Given the description of an element on the screen output the (x, y) to click on. 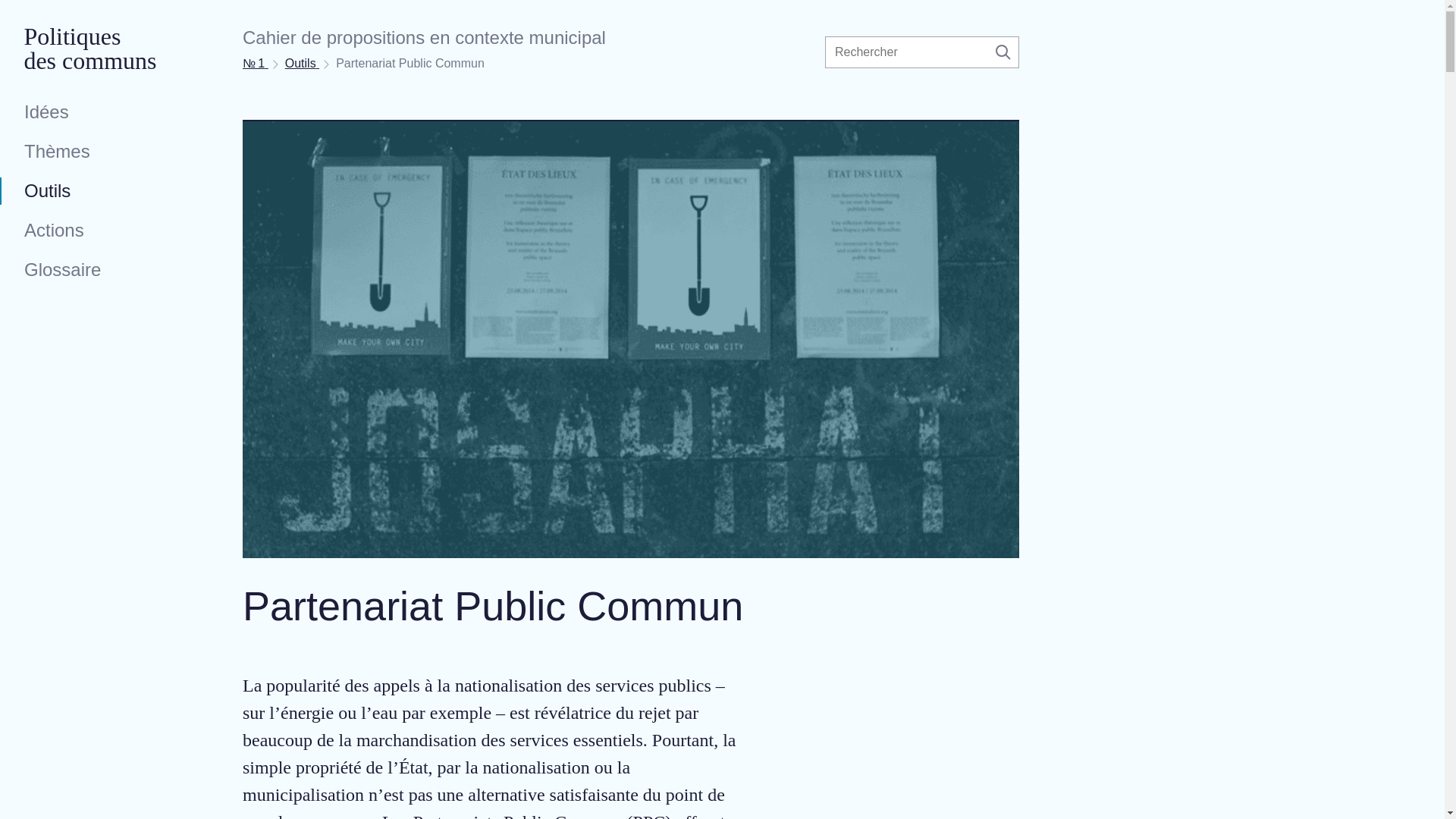
Glossaire Element type: text (84, 269)
Outils Element type: text (302, 62)
Actions Element type: text (84, 230)
Outils Element type: text (84, 190)
